Given the description of an element on the screen output the (x, y) to click on. 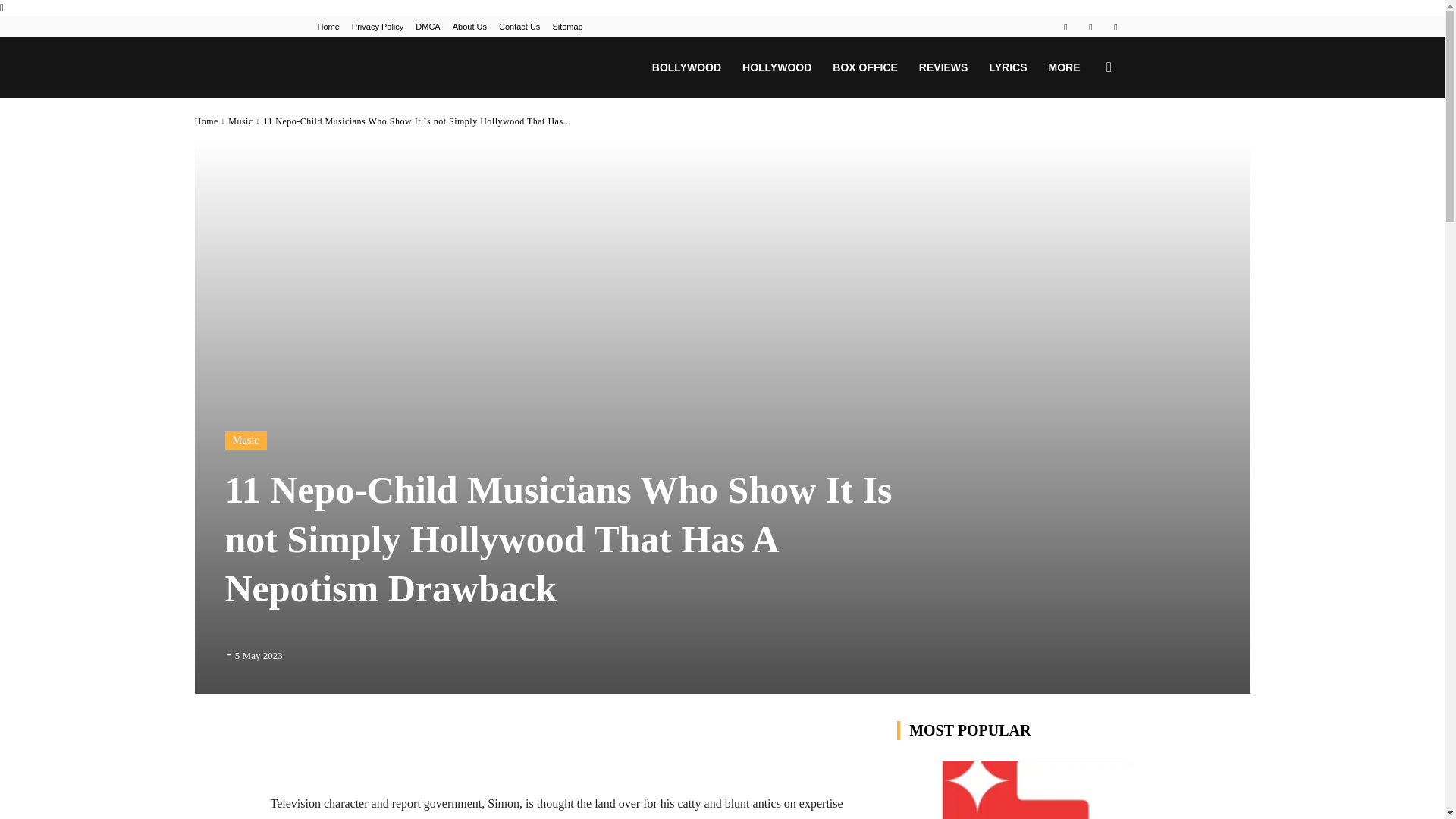
Home (328, 26)
About Us (469, 26)
Twitter (1114, 25)
BOX OFFICE (865, 66)
DMCA (426, 26)
Sitemap (566, 26)
Privacy Policy (377, 26)
LYRICS (1007, 66)
REVIEWS (943, 66)
BOLLYWOOD (687, 66)
Search (1085, 139)
HOLLYWOOD (777, 66)
View all posts in Music (240, 121)
Facebook (1065, 25)
Pinterest (1090, 25)
